Given the description of an element on the screen output the (x, y) to click on. 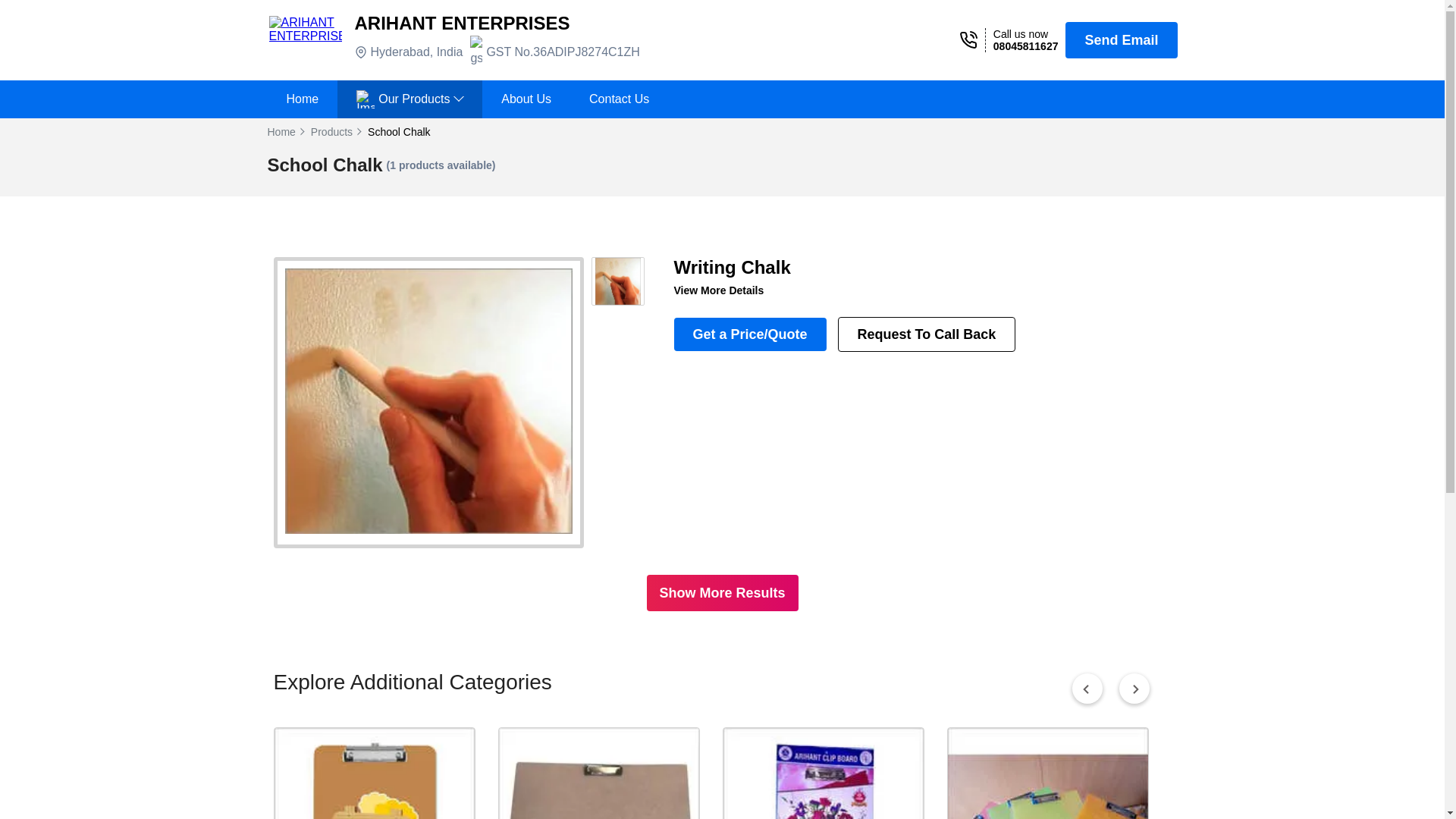
Send Email (1120, 40)
ARIHANT ENTERPRISES (462, 23)
08045811627 (1025, 46)
Our Products     (409, 98)
Home (301, 98)
